Given the description of an element on the screen output the (x, y) to click on. 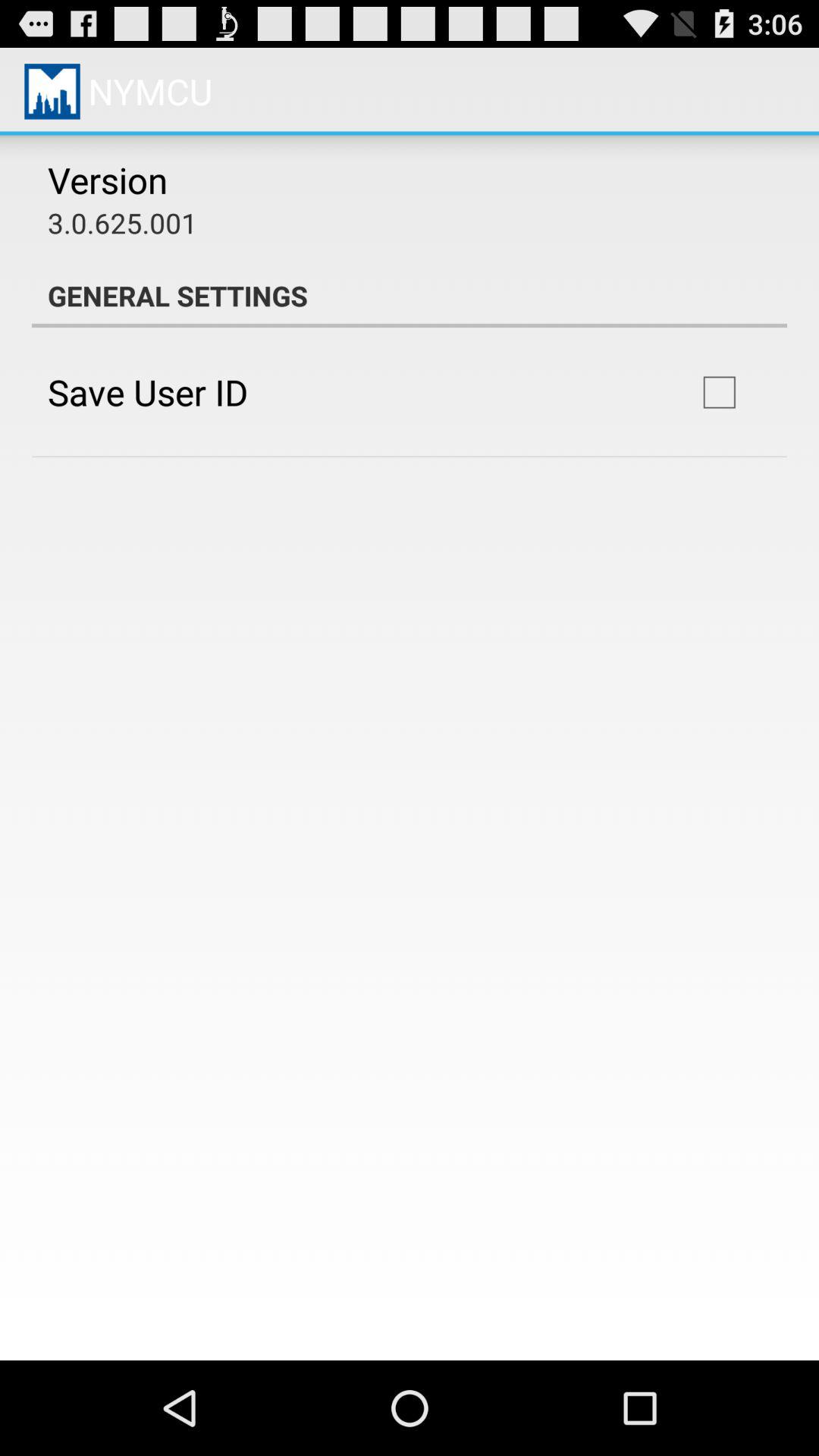
press item below 3 0 625 app (409, 295)
